Given the description of an element on the screen output the (x, y) to click on. 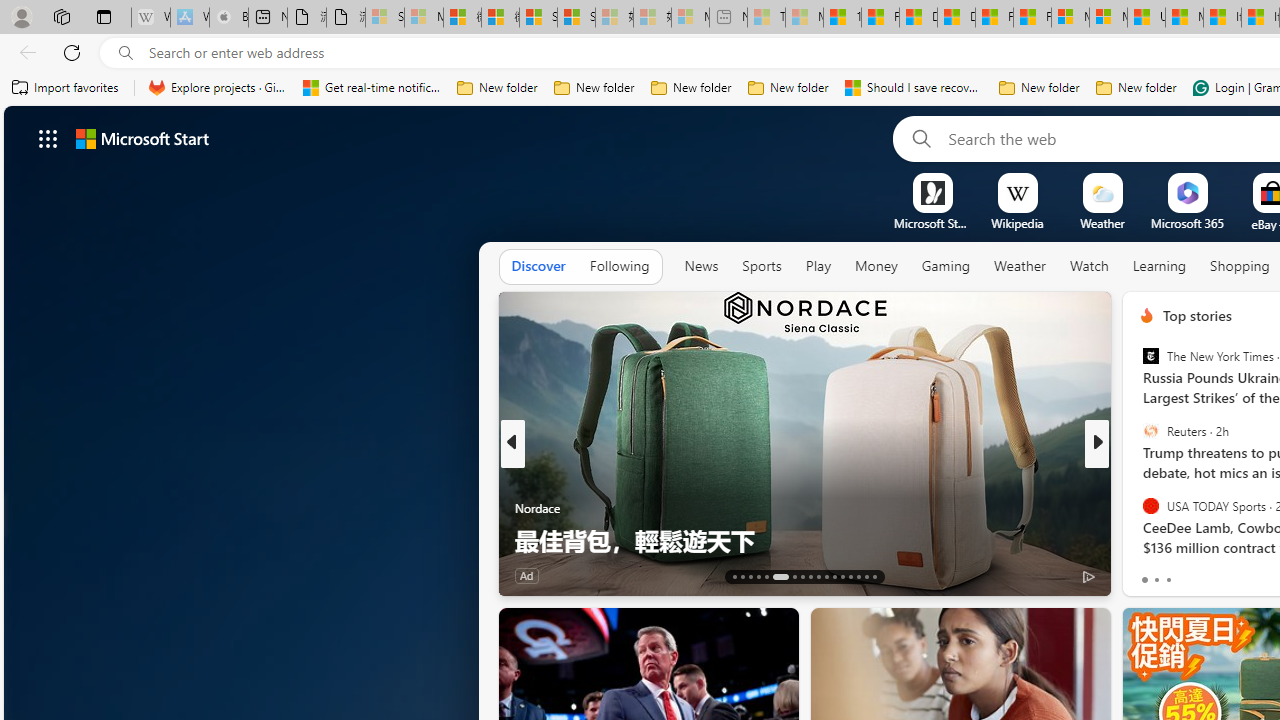
15 Like (1149, 574)
221 Like (1151, 574)
View comments 14 Comment (1244, 574)
IT Concept (1158, 507)
AutomationID: tab-30 (850, 576)
255 Like (1151, 574)
BuzzFeed (1138, 507)
View comments 3 Comment (1241, 574)
Should I save recovered Word documents? - Microsoft Support (913, 88)
